Given the description of an element on the screen output the (x, y) to click on. 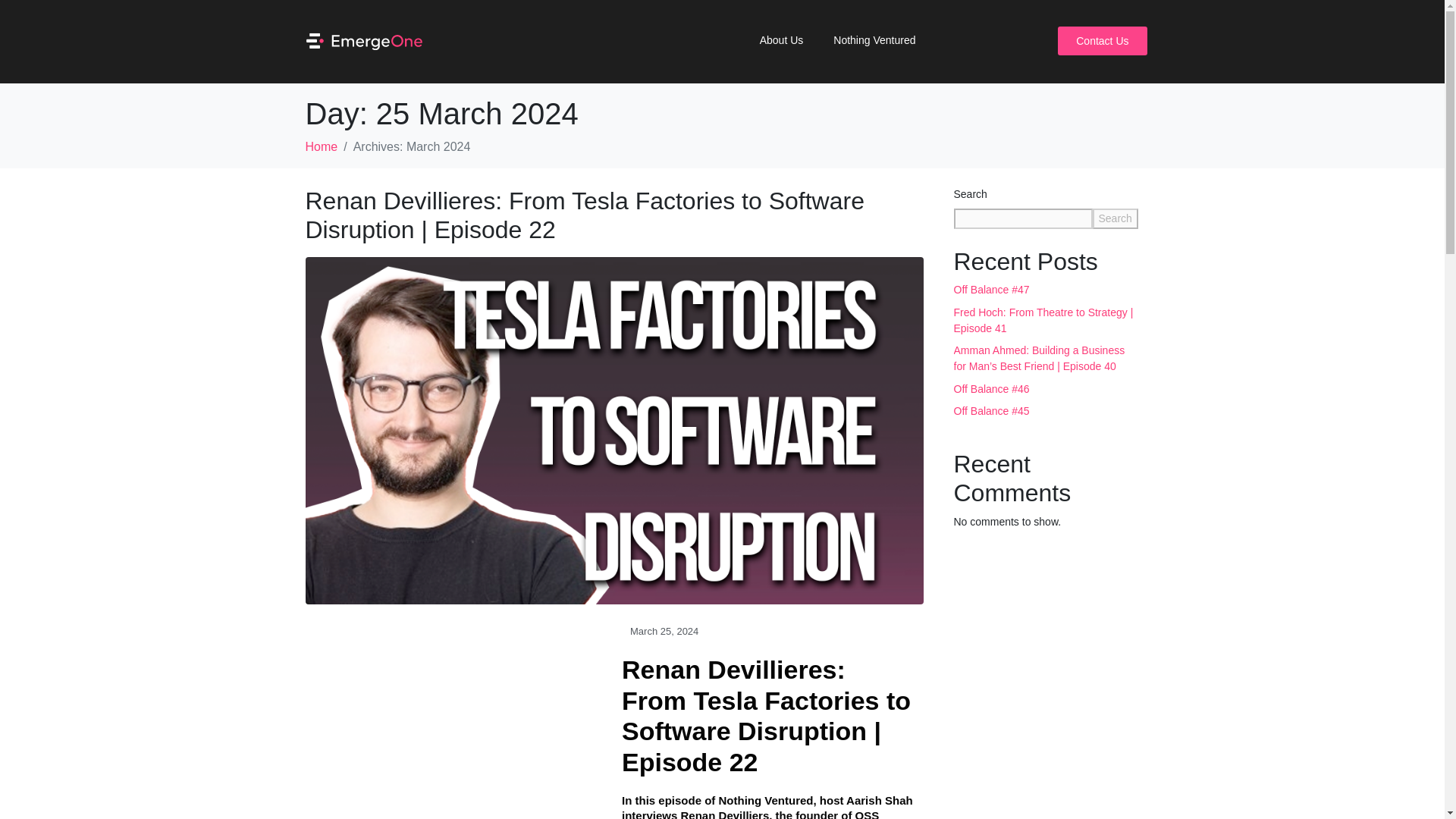
Nothing Ventured (874, 40)
About Us (781, 40)
Home (320, 146)
March 25, 2024 (659, 631)
Search (1114, 218)
Contact Us (1102, 40)
